Given the description of an element on the screen output the (x, y) to click on. 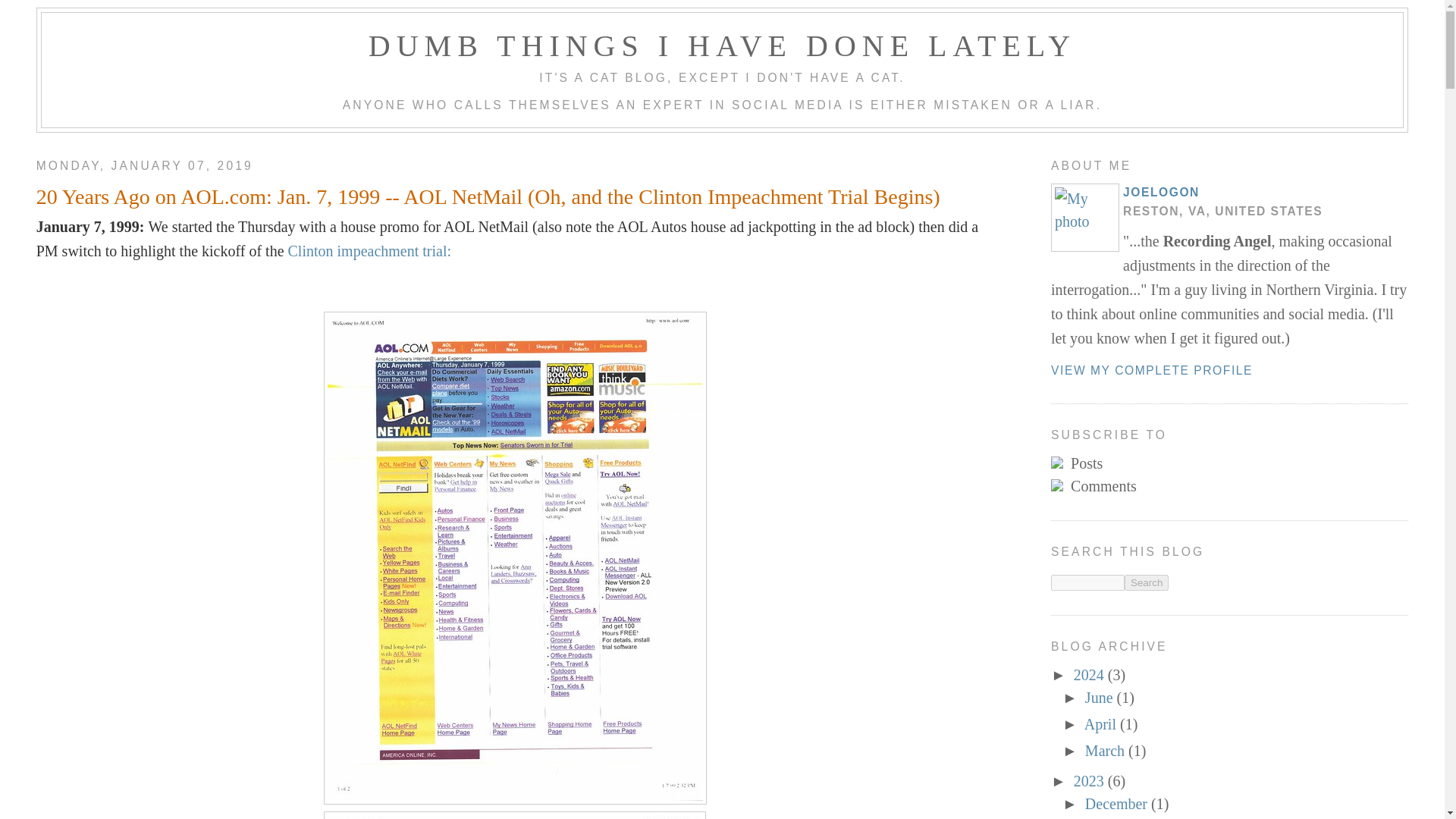
search (1146, 582)
JOELOGON (1160, 192)
search (1087, 582)
Search (1146, 582)
2024 (1091, 674)
March (1106, 750)
VIEW MY COMPLETE PROFILE (1151, 369)
Clinton impeachment trial: (369, 250)
June (1100, 697)
Search (1146, 582)
DUMB THINGS I HAVE DONE LATELY (721, 45)
April (1101, 723)
Search (1146, 582)
